Given the description of an element on the screen output the (x, y) to click on. 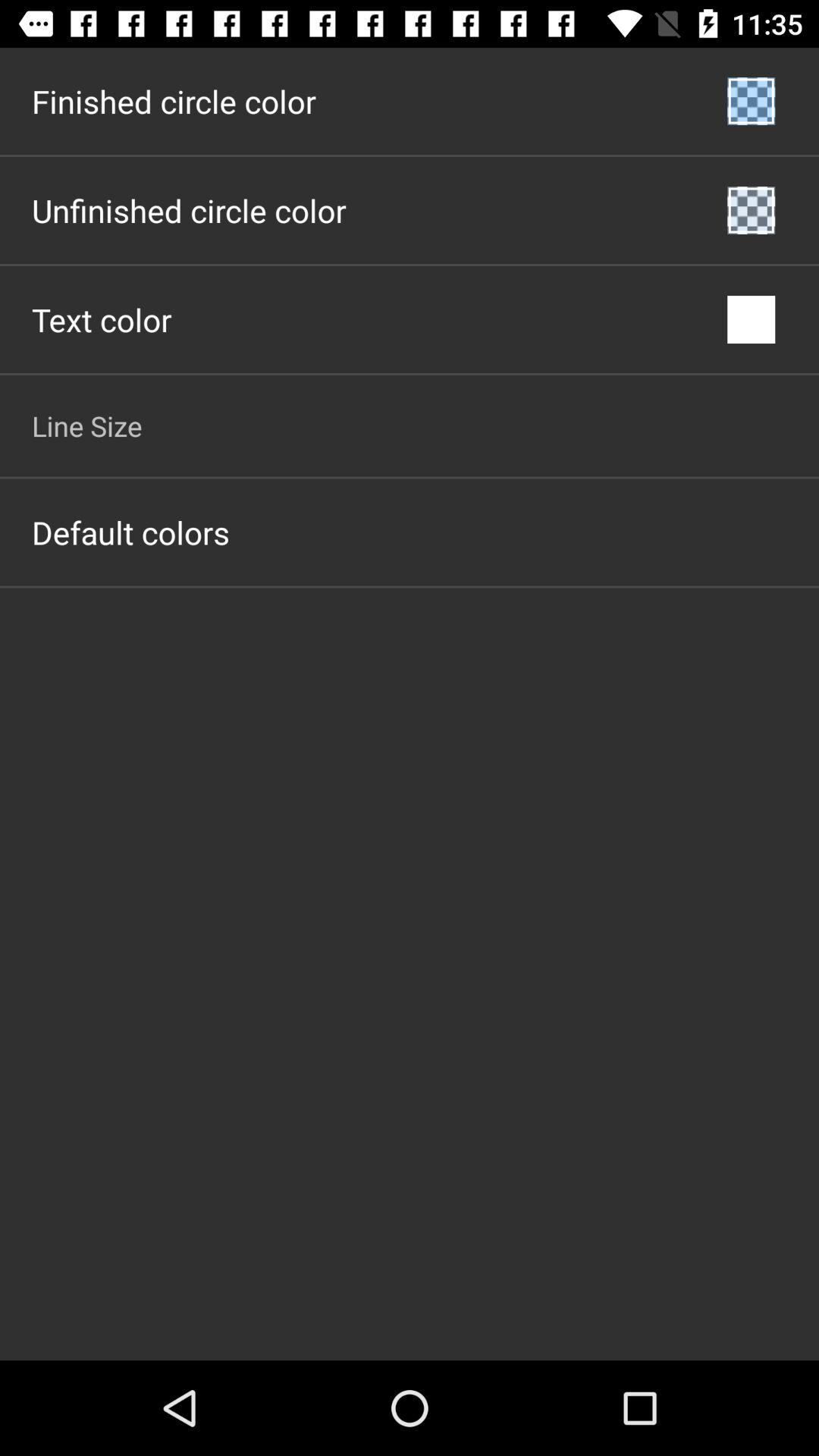
choose the icon below the unfinished circle color icon (101, 319)
